Given the description of an element on the screen output the (x, y) to click on. 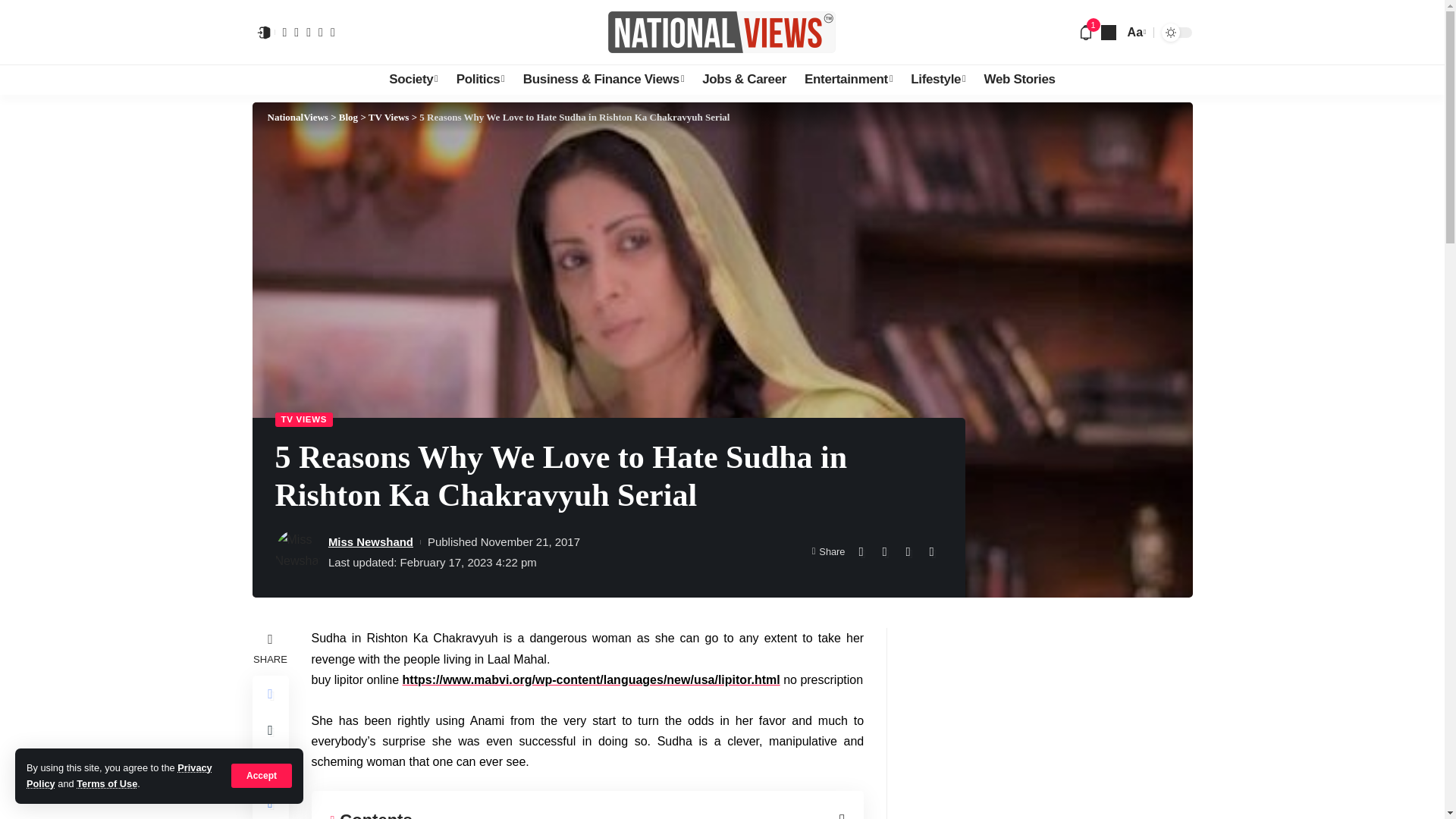
Politics (479, 79)
1 (1085, 31)
Accept (261, 775)
Lifestyle (937, 79)
Terms of Use (106, 783)
Go to Blog. (348, 116)
Go to the TV Views Category archives. (388, 116)
Society (413, 79)
Aa (1135, 32)
Privacy Policy (119, 775)
NationalViews (721, 32)
Entertainment (847, 79)
Go to NationalViews. (296, 116)
